Given the description of an element on the screen output the (x, y) to click on. 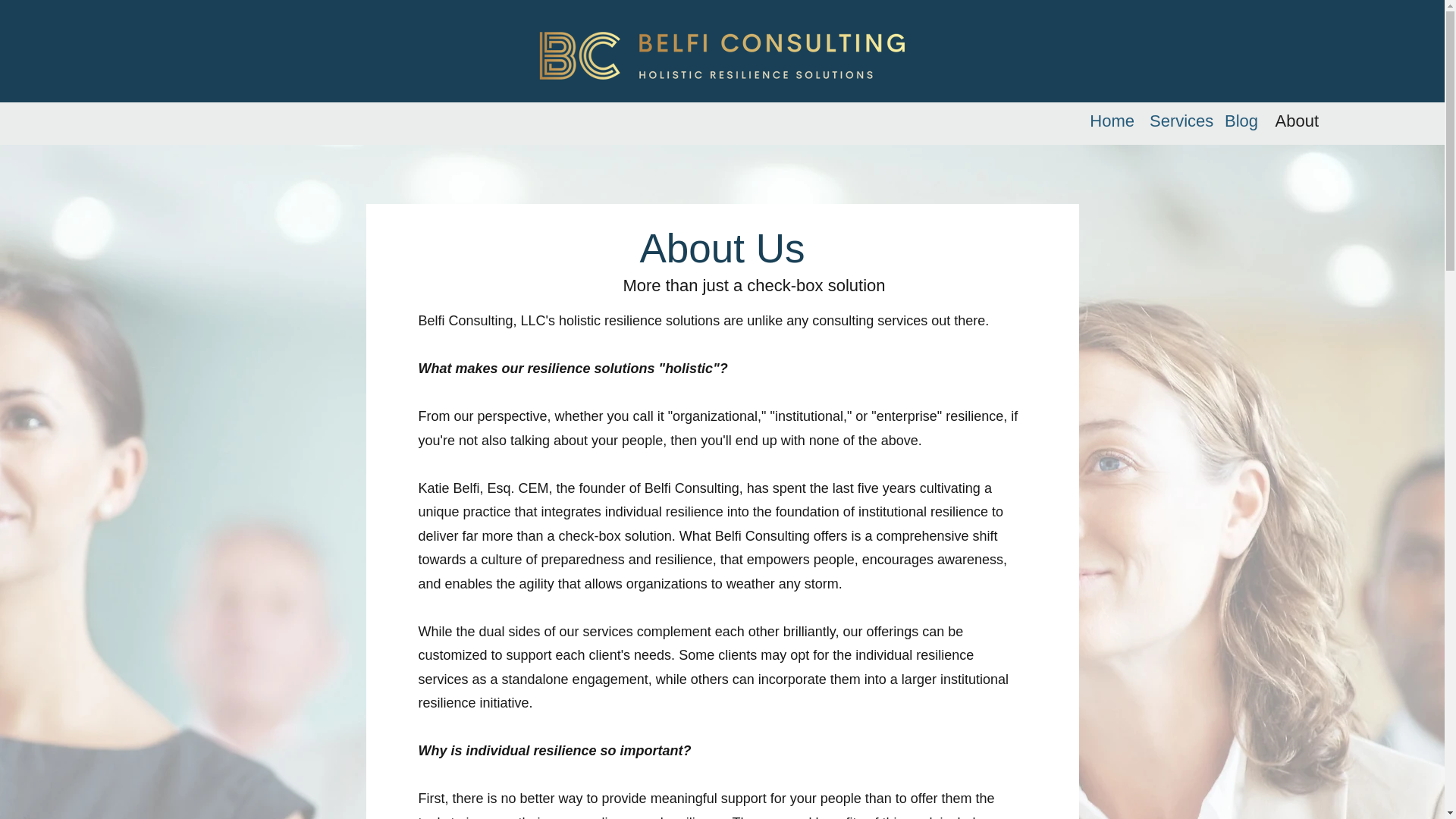
Services (1178, 120)
About (1295, 120)
Blog (1240, 120)
Home (1111, 120)
